Given the description of an element on the screen output the (x, y) to click on. 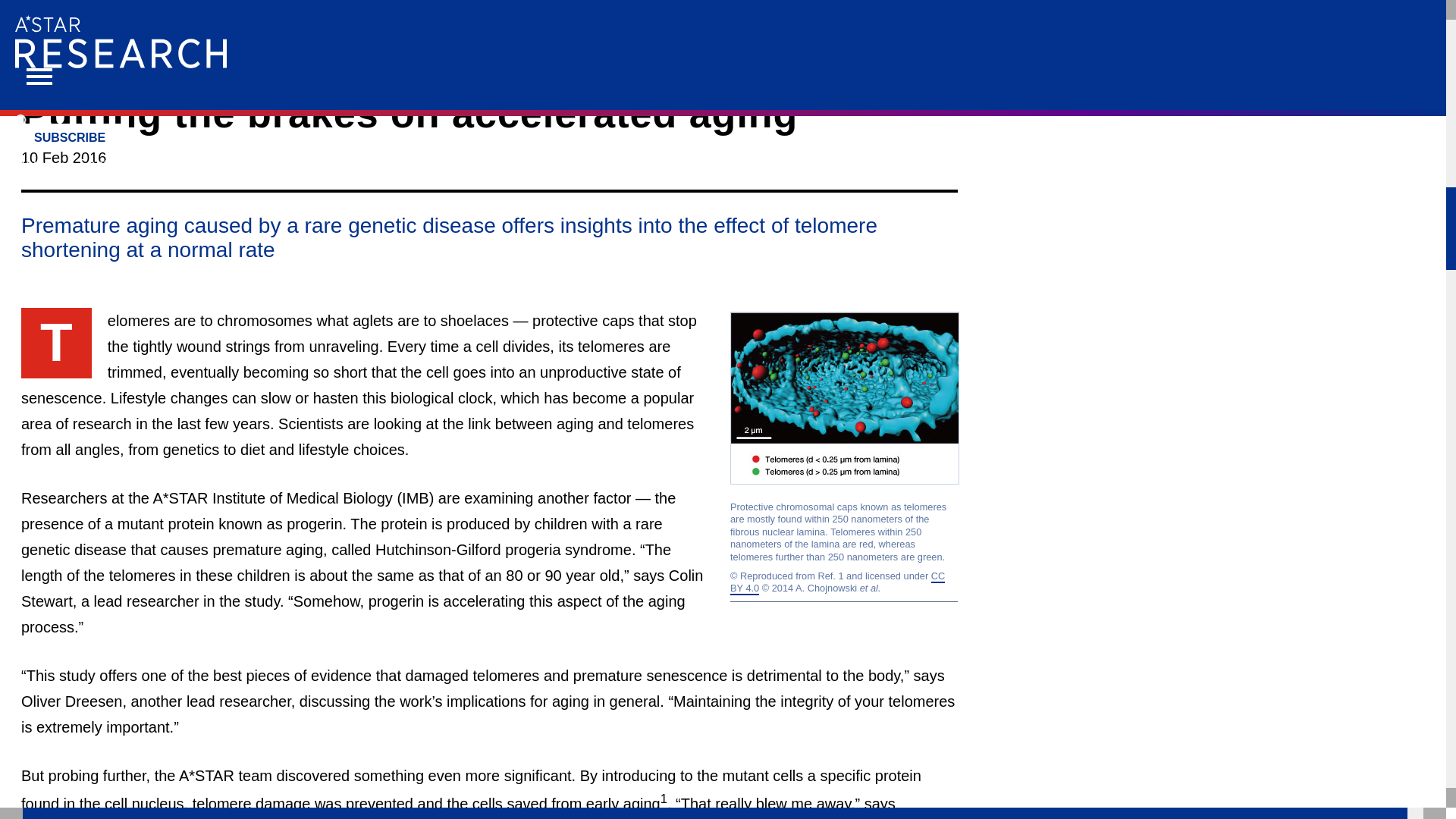
CC BY 4.0 (837, 583)
